Given the description of an element on the screen output the (x, y) to click on. 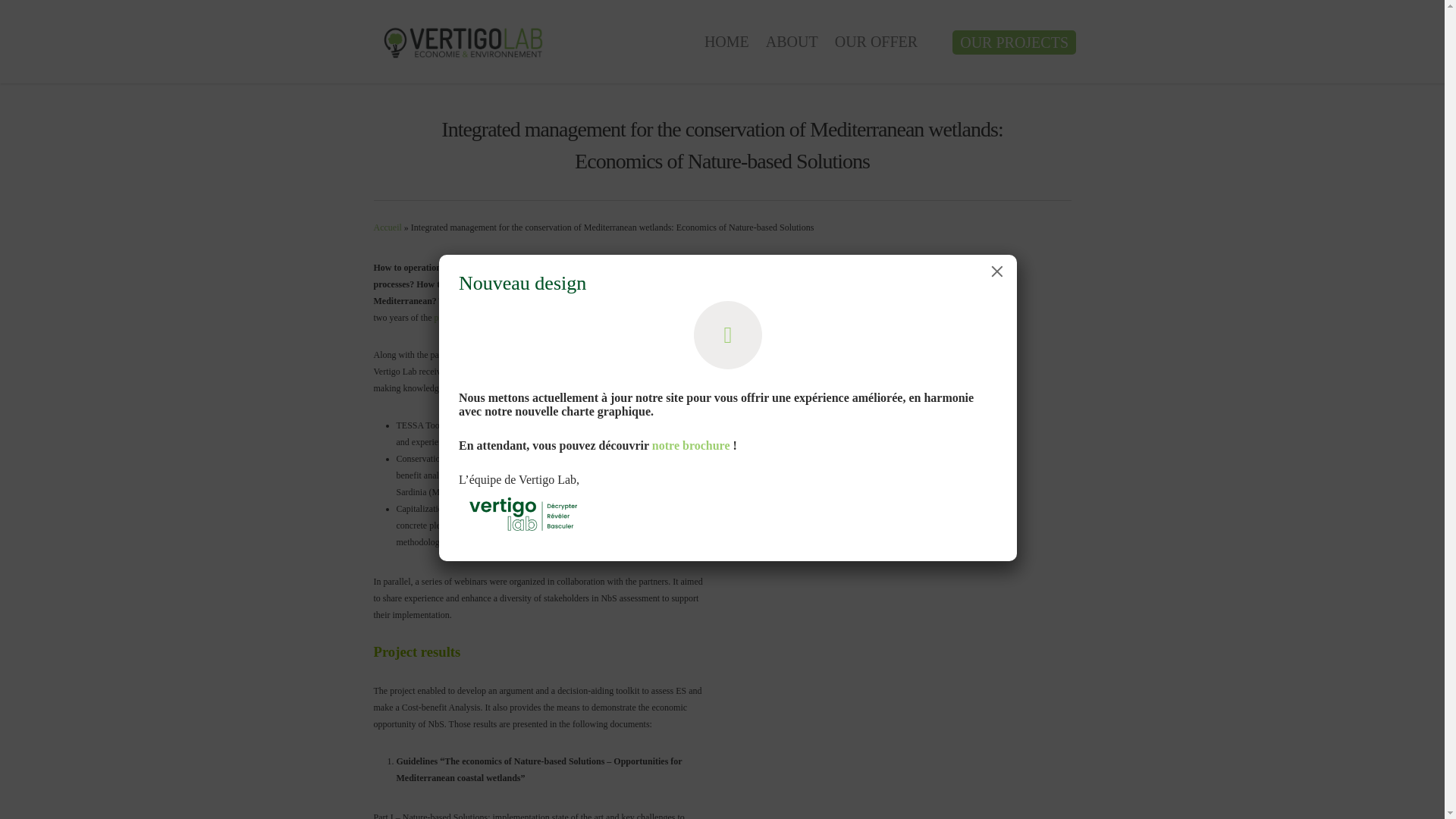
OUR OFFER (875, 52)
0 (928, 275)
project (445, 317)
HOME (727, 52)
IUCN (565, 354)
ABOUT (791, 52)
Accueil (386, 226)
OUR PROJECTS (1013, 42)
MEDSEA (601, 354)
MAVA Foundation (486, 371)
Love this (928, 275)
BirdLife (534, 354)
